Given the description of an element on the screen output the (x, y) to click on. 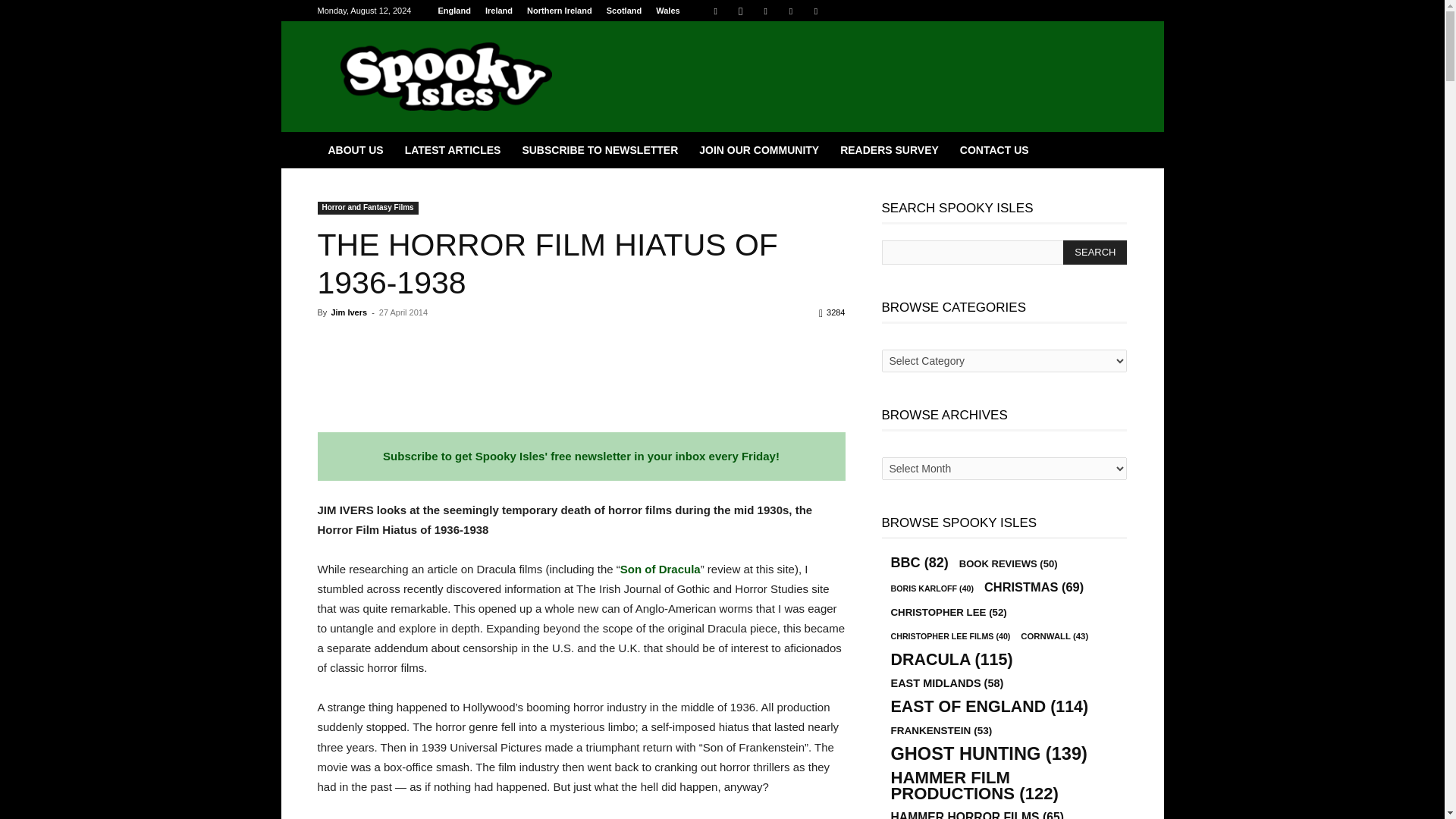
Youtube (816, 10)
Instagram (740, 10)
Pinterest (765, 10)
England (454, 10)
Spooky Isles (445, 76)
Search (1094, 252)
Facebook (715, 10)
Twitter (790, 10)
